Given the description of an element on the screen output the (x, y) to click on. 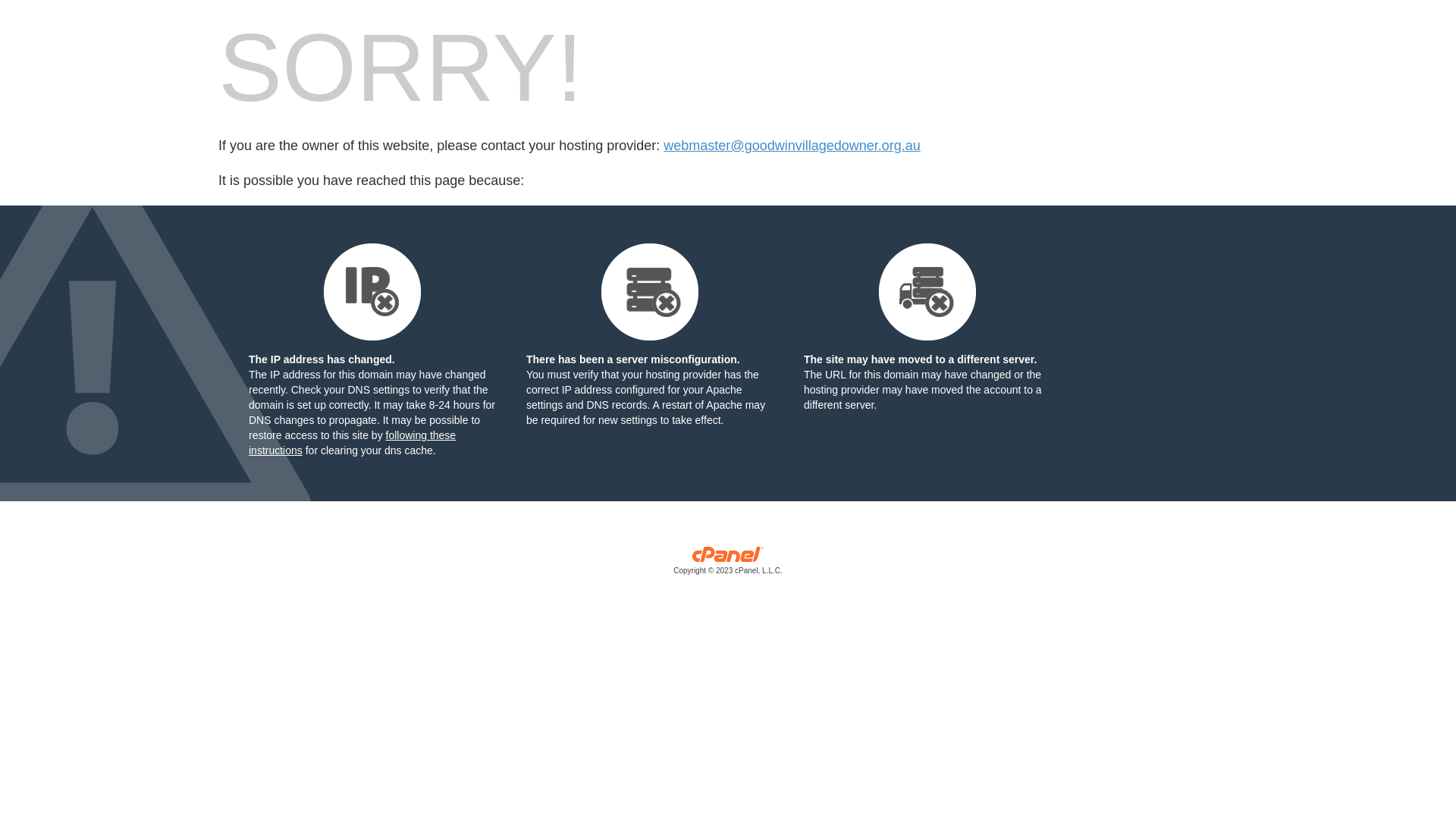
webmaster@goodwinvillagedowner.org.au Element type: text (791, 145)
following these instructions Element type: text (351, 442)
